Given the description of an element on the screen output the (x, y) to click on. 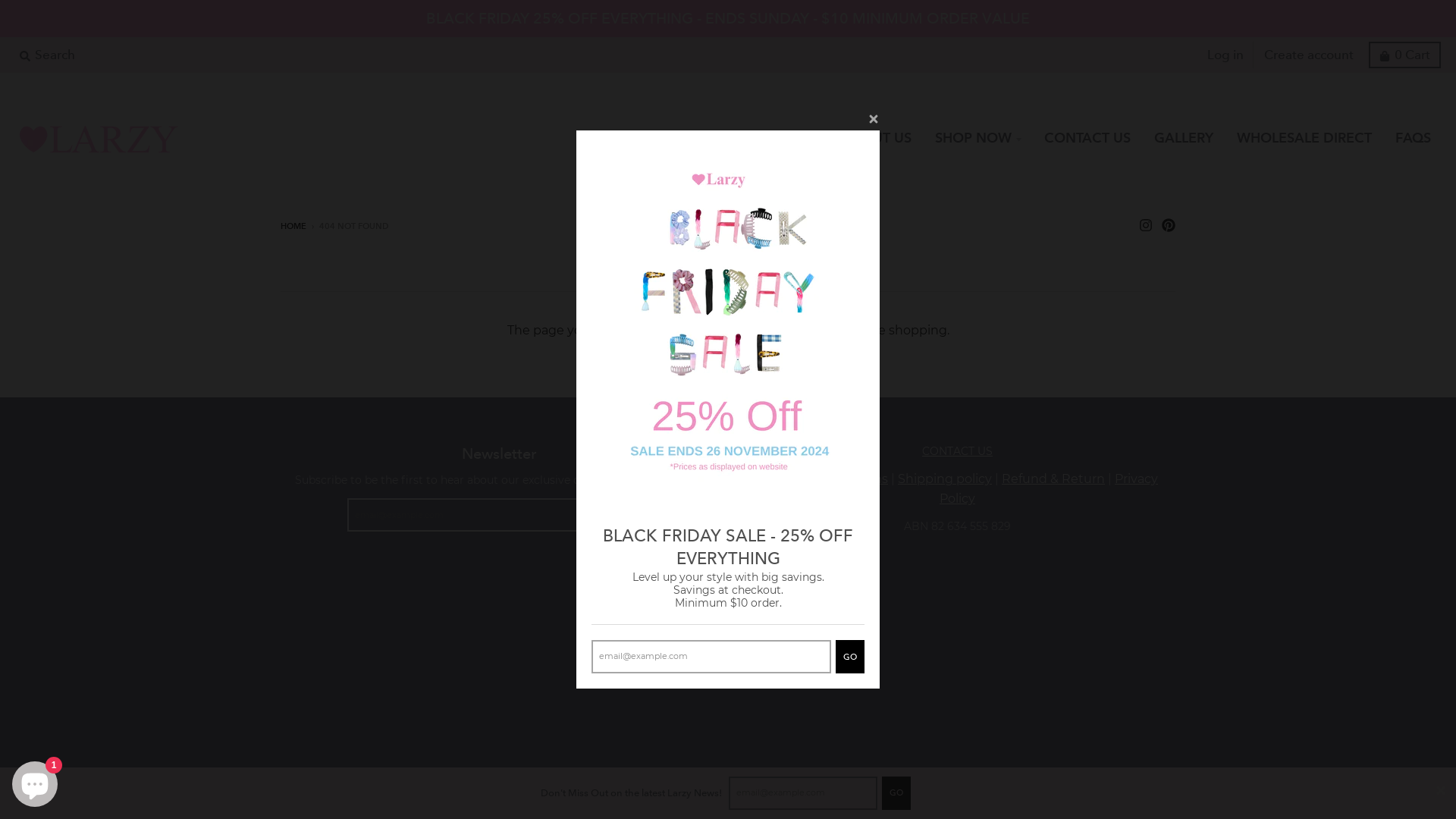
GALLERY Element type: text (1183, 138)
GO Element type: text (635, 514)
0 Cart Element type: text (1404, 54)
Create account Element type: text (1308, 54)
Log in Element type: text (1225, 54)
HOME Element type: text (797, 138)
SHOP NOW Element type: text (977, 138)
here Element type: text (796, 330)
Shipping policy Element type: text (944, 478)
Larzy Pty Ltd Element type: text (749, 624)
GO Element type: text (895, 792)
ABOUT US Element type: text (876, 138)
Instagram - Larzy Pty Ltd Element type: hover (1145, 225)
CONTACT US Element type: text (957, 451)
Pinterest - Larzy Pty Ltd Element type: hover (1168, 225)
WHOLESALE DIRECT Element type: text (1303, 138)
GO Element type: text (849, 656)
CONTACT US Element type: text (1087, 138)
Privacy Policy Element type: text (1048, 488)
Shopify online store chat Element type: hover (34, 780)
Terms and conditions Element type: text (822, 478)
FAQS Element type: text (1412, 138)
Powered by Larzy Pty Ltd Element type: text (727, 641)
Search Element type: text (47, 54)
HOME Element type: text (293, 225)
Refund & Return Element type: text (1052, 478)
